Given the description of an element on the screen output the (x, y) to click on. 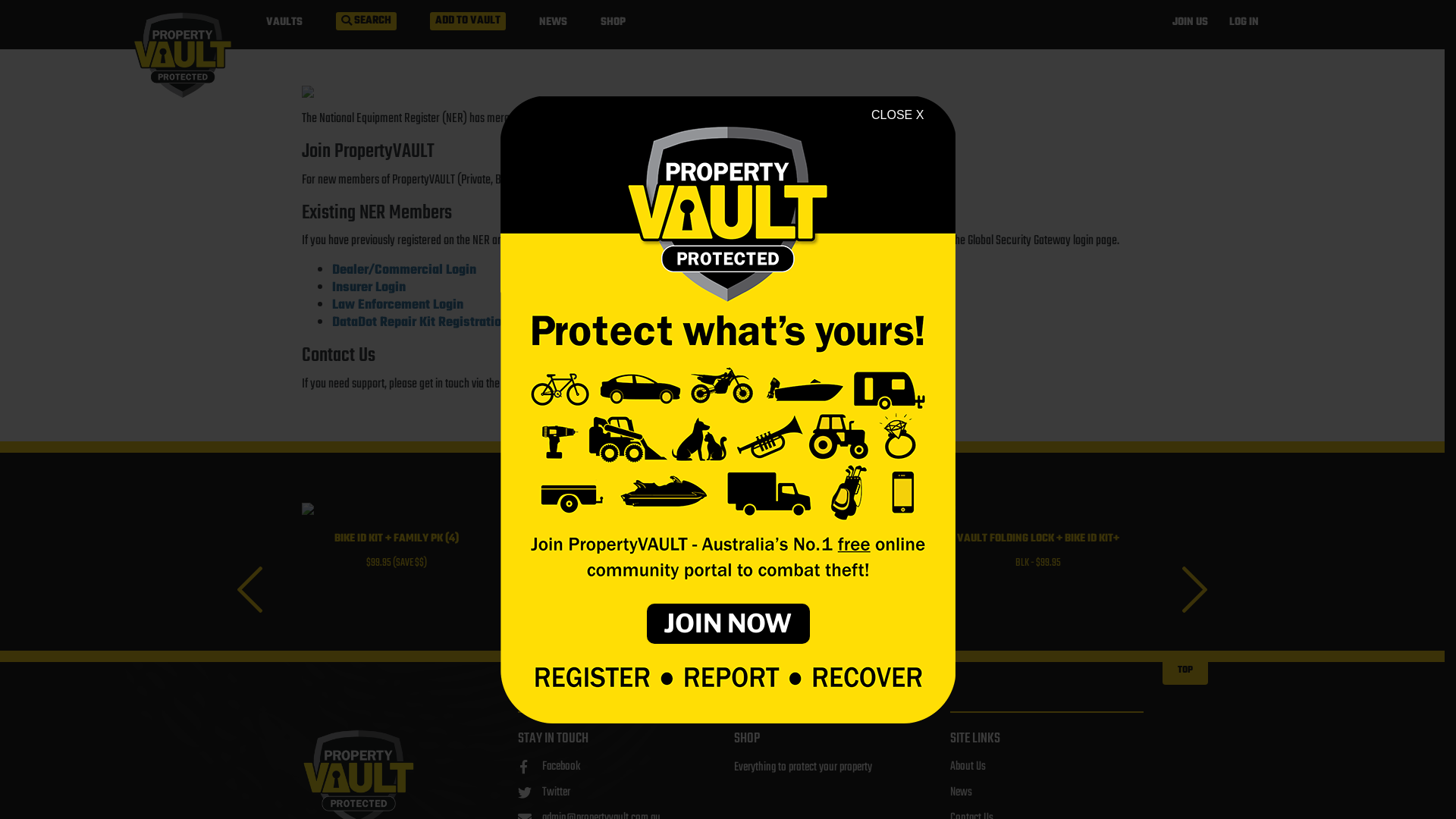
SEARCH Element type: text (365, 21)
VAULT FOLDING LOCK + BIKE ID KIT+
BLK - $99.95 Element type: text (1038, 541)
VAULT FOLDING LOCK + BIKE ID KIT+
YLW - $94.95 Element type: text (824, 541)
Next Element type: text (1194, 595)
News Element type: text (960, 792)
Law Enforcement Login Element type: text (397, 304)
JOIN US Element type: text (1190, 22)
TOP Element type: text (1184, 661)
ADD TO VAULT Element type: text (467, 21)
About Us Element type: text (967, 766)
LOG IN Element type: text (1243, 22)
Twitter Element type: text (543, 792)
SHOP Element type: text (746, 738)
Dealer/Commercial Login Element type: text (404, 270)
Facebook Element type: text (548, 766)
CLOSE X Element type: text (896, 114)
NEWS Element type: text (553, 22)
Insurer Login Element type: text (368, 287)
DataDot Repair Kit Registration Element type: text (420, 322)
BIKE ID KIT + FAMILY PK (4)
$99.95 (SAVE $$)
  Element type: text (396, 552)
SHOP Element type: text (612, 22)
JOIN NOW Element type: text (727, 623)
Previous Element type: text (249, 595)
VAULT D LOCK + BIKE ID KIT+
$79.95 Element type: text (610, 541)
SHOP Element type: text (721, 616)
